Given the description of an element on the screen output the (x, y) to click on. 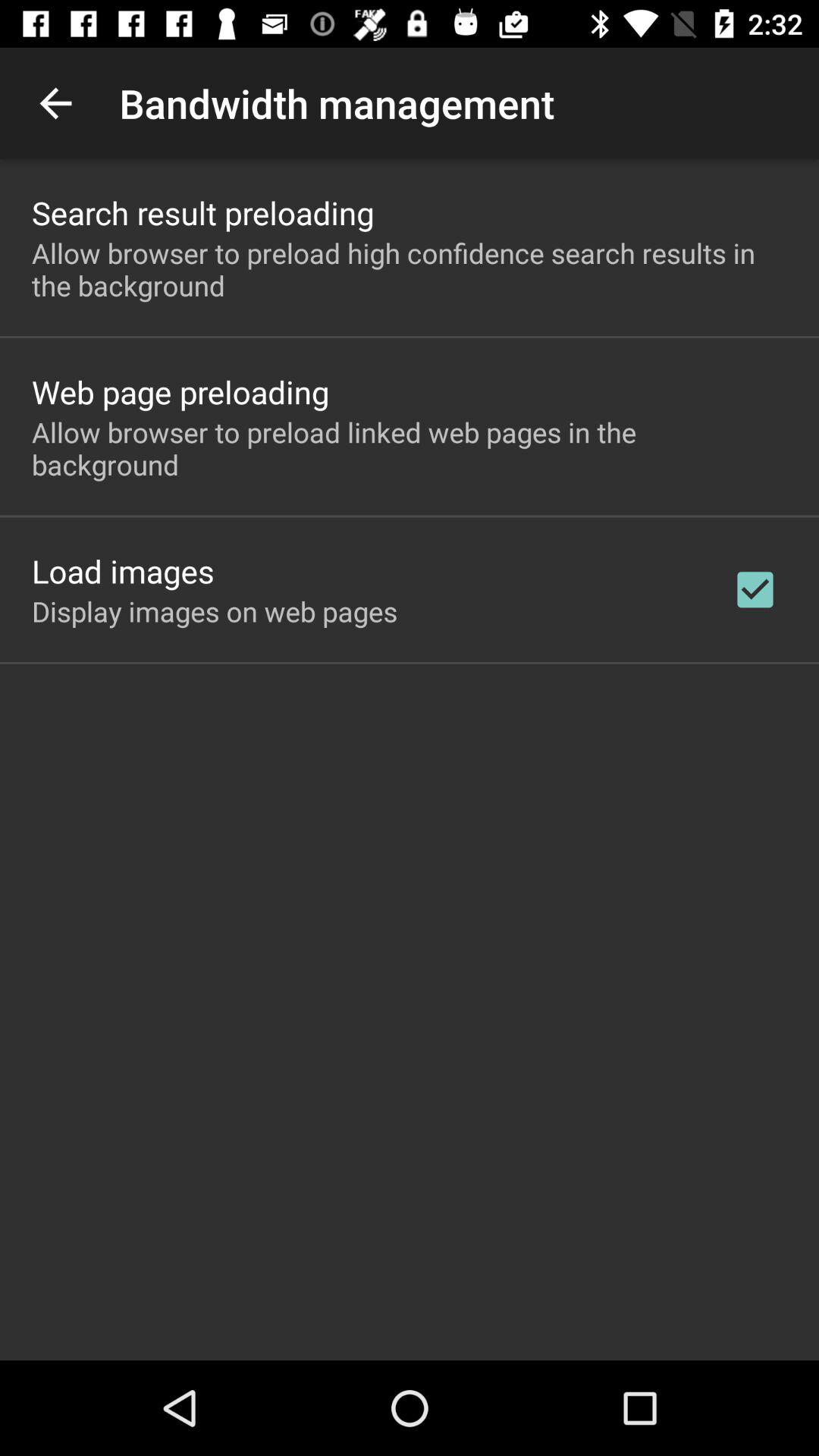
open the item above the display images on (122, 570)
